Given the description of an element on the screen output the (x, y) to click on. 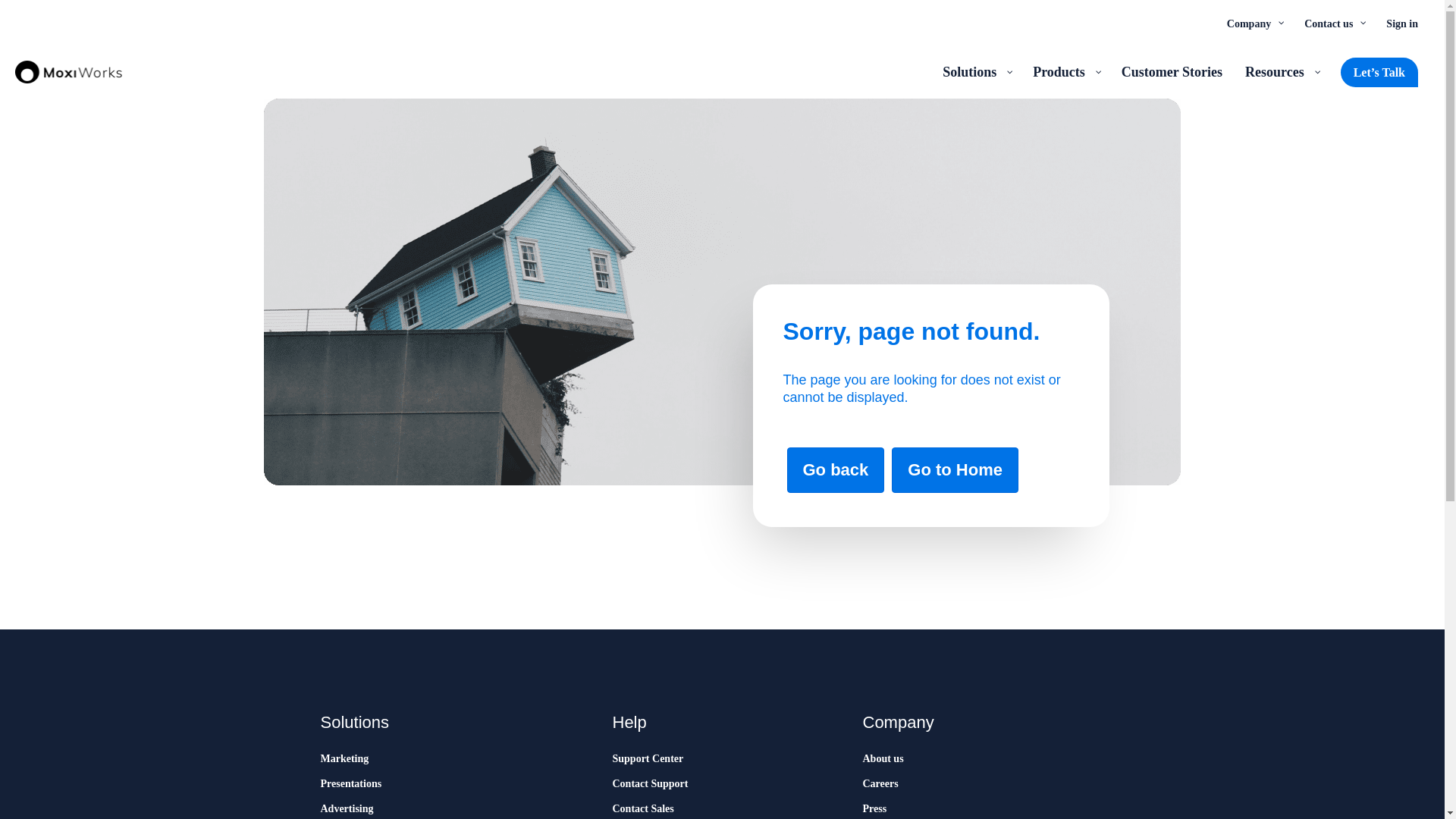
Sign in (1401, 22)
Contact us (1333, 22)
Products (1065, 72)
Solutions (976, 72)
Company (1253, 22)
